Given the description of an element on the screen output the (x, y) to click on. 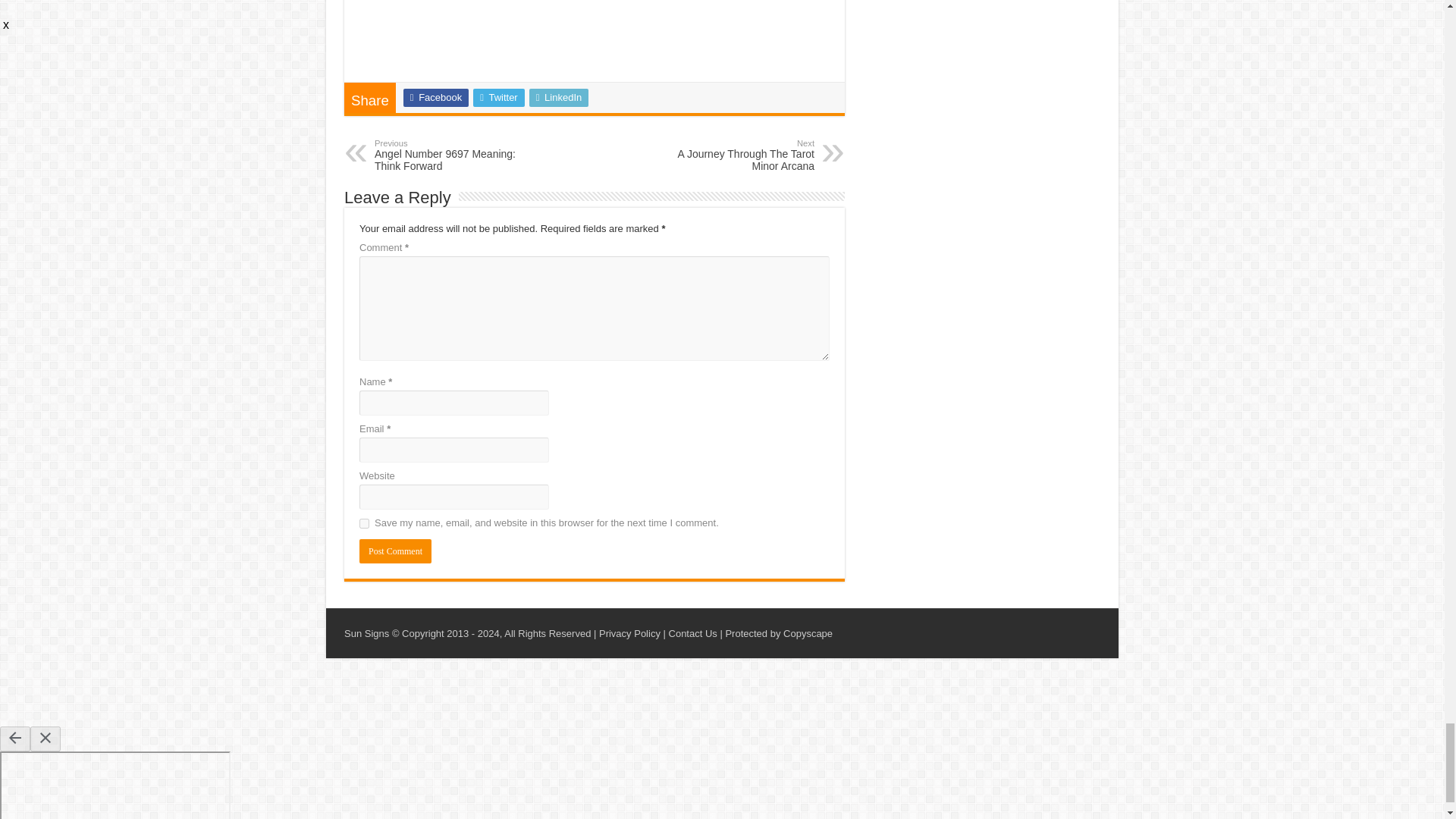
yes (364, 523)
Post Comment (394, 550)
